Given the description of an element on the screen output the (x, y) to click on. 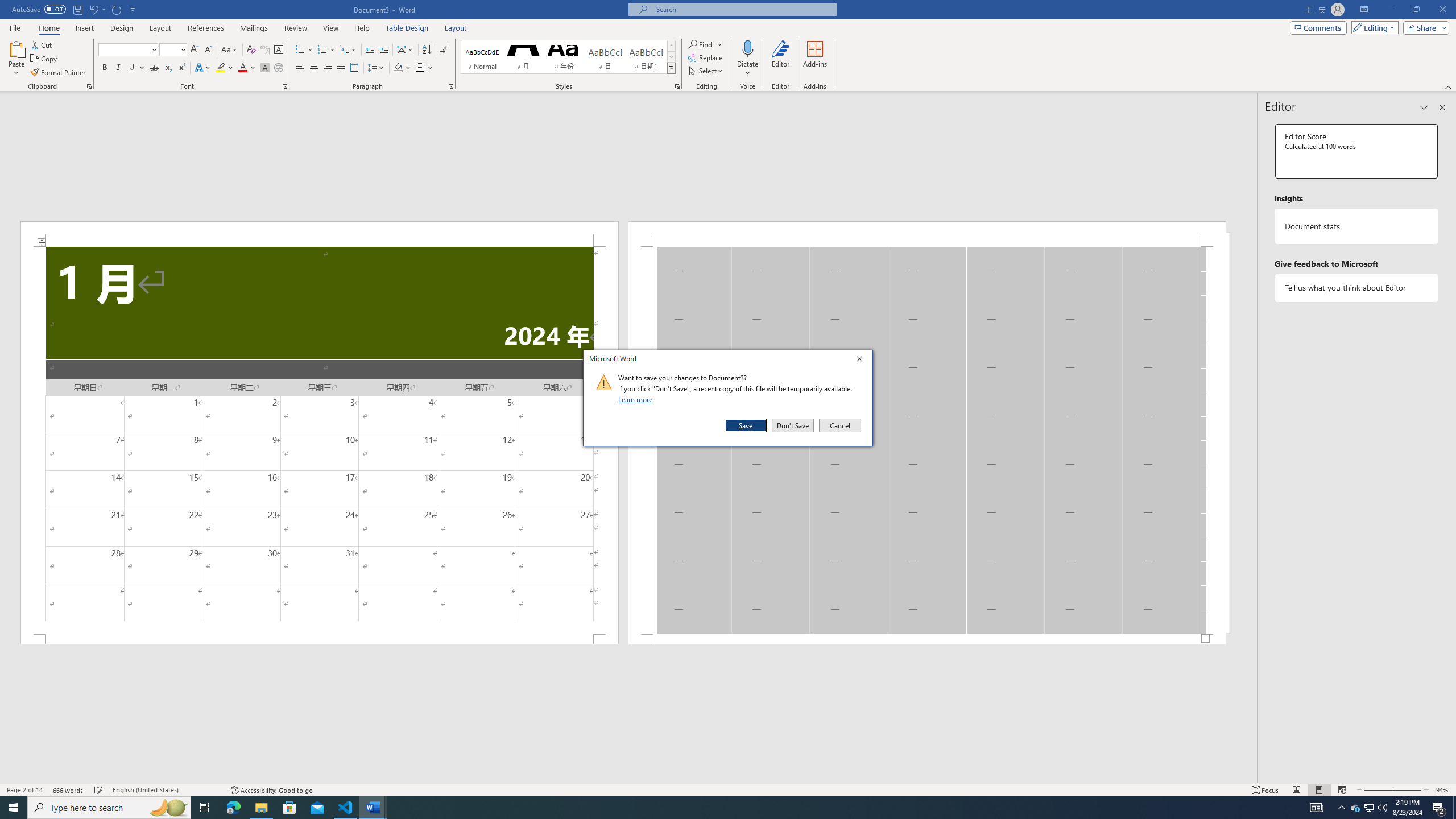
Learn more (636, 399)
Font (128, 49)
Paragraph... (450, 85)
Align Left (300, 67)
AutomationID: QuickStylesGallery (568, 56)
Restore Down (1416, 9)
File Tab (15, 27)
Undo Apply Quick Style (96, 9)
Shading RGB(0, 0, 0) (397, 67)
Table Design (407, 28)
Close (862, 360)
Shading (402, 67)
Dictate (747, 58)
Text Highlight Color (224, 67)
